Given the description of an element on the screen output the (x, y) to click on. 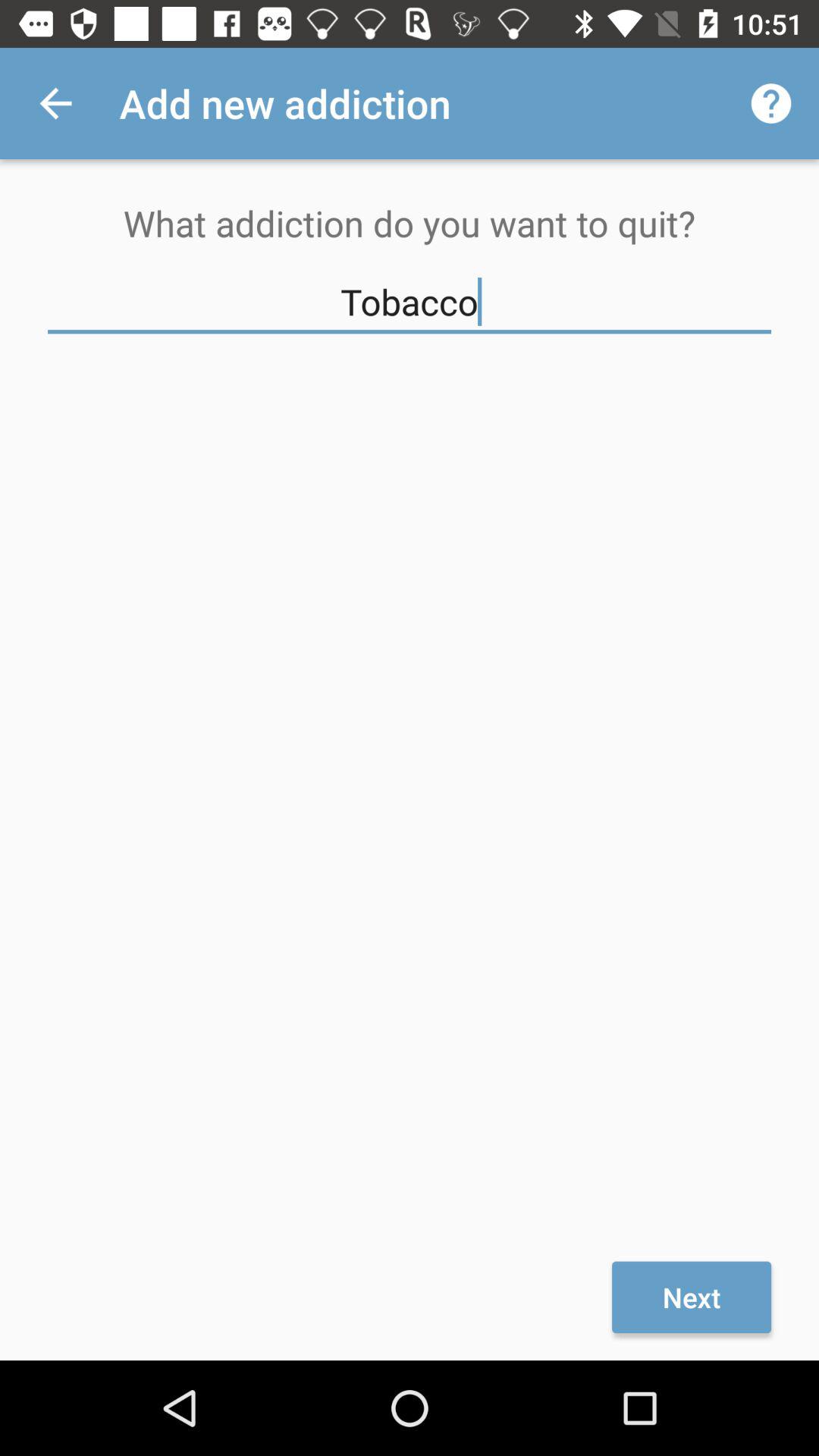
choose the icon above the next (409, 302)
